Given the description of an element on the screen output the (x, y) to click on. 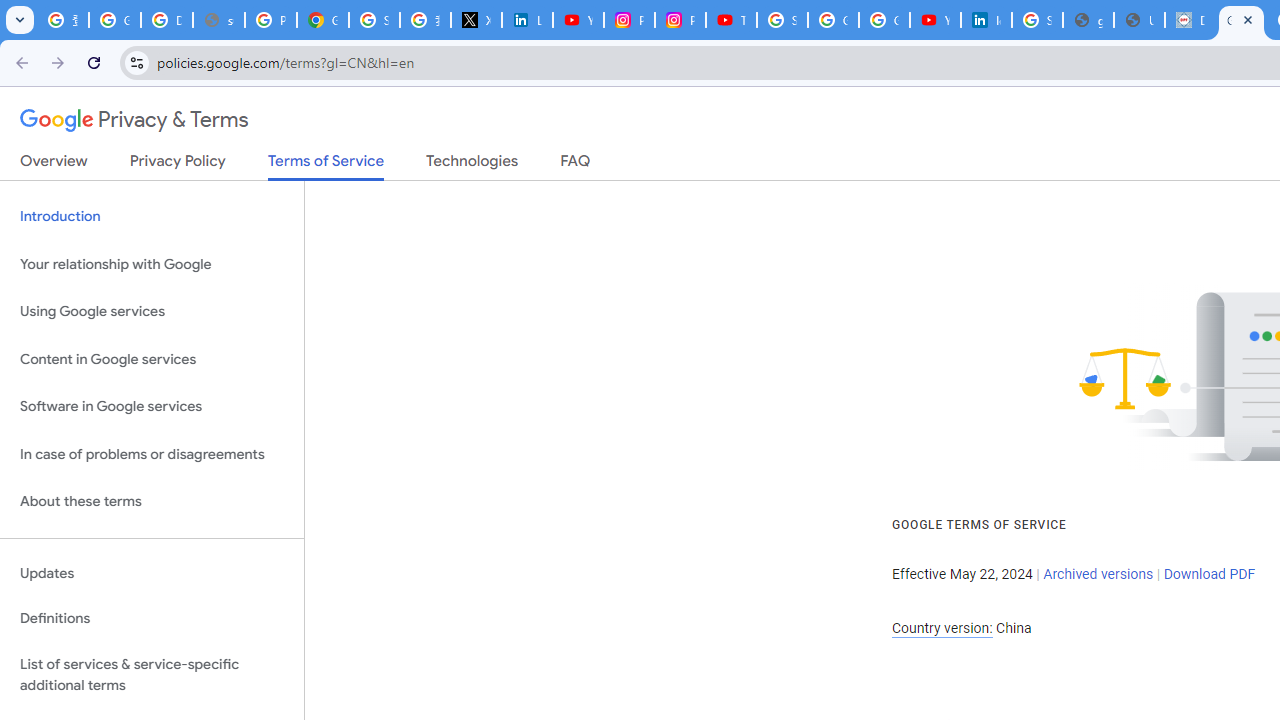
google_privacy_policy_en.pdf (1087, 20)
View site information (136, 62)
Updates (152, 573)
Close (1247, 19)
Sign in - Google Accounts (374, 20)
Privacy & Terms (134, 120)
System (10, 11)
Back (19, 62)
FAQ (575, 165)
Identity verification via Persona | LinkedIn Help (986, 20)
In case of problems or disagreements (152, 453)
Privacy Help Center - Policies Help (270, 20)
Software in Google services (152, 407)
